Given the description of an element on the screen output the (x, y) to click on. 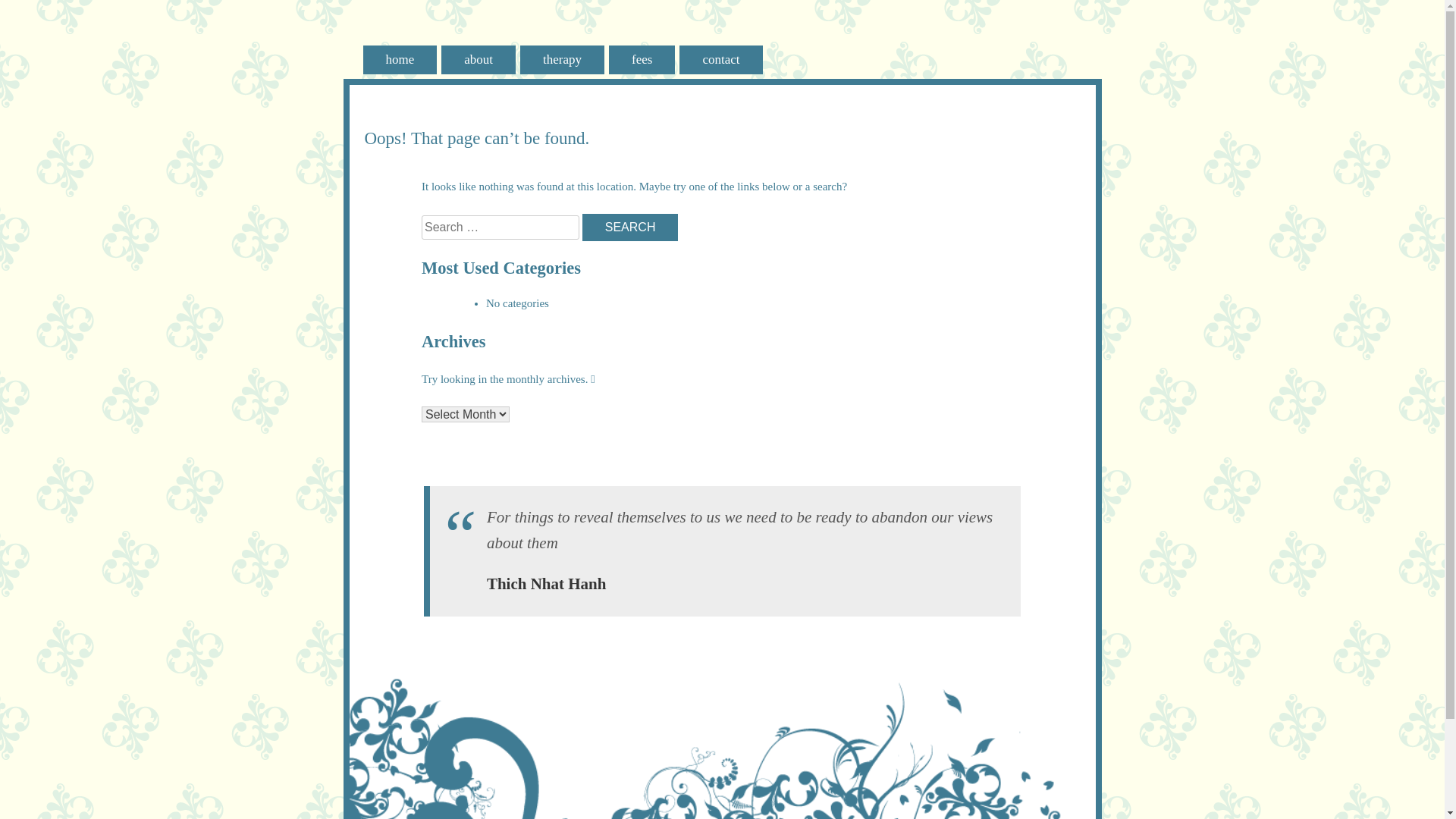
Search Element type: text (630, 227)
contact Element type: text (720, 59)
therapy Element type: text (562, 59)
home Element type: text (399, 59)
fees Element type: text (641, 59)
about Element type: text (478, 59)
